Given the description of an element on the screen output the (x, y) to click on. 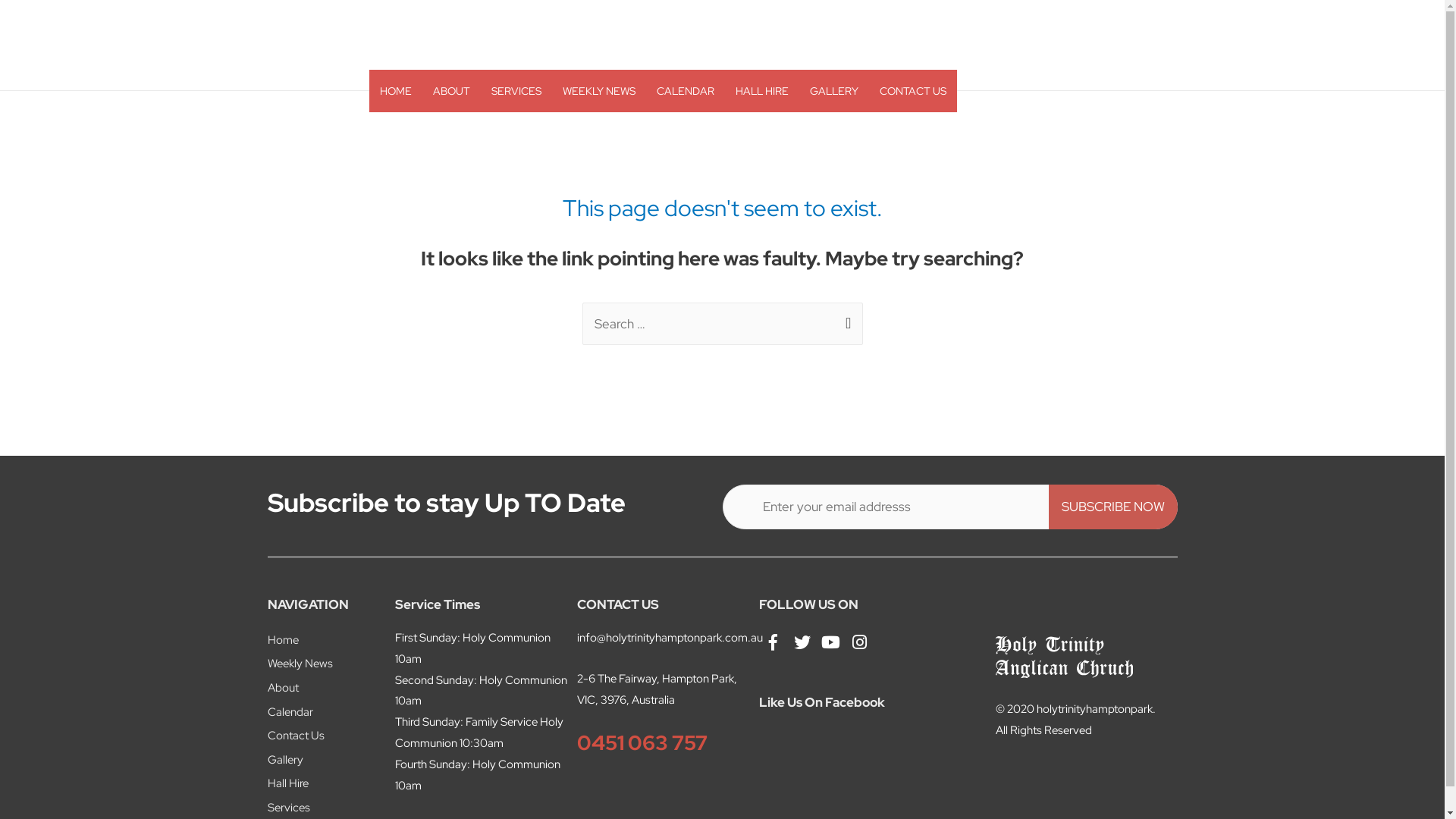
CALENDAR Element type: text (685, 90)
About Element type: text (282, 687)
Instagram Element type: hover (859, 642)
Hall Hire Element type: text (286, 782)
Twitter Element type: hover (801, 642)
Home Element type: text (282, 639)
Facebook Element type: hover (772, 641)
Calendar Element type: text (289, 711)
Twitter Element type: hover (801, 641)
Weekly News Element type: text (299, 663)
YouTube Element type: hover (830, 641)
CONTACT US Element type: text (913, 90)
WEEKLY NEWS Element type: text (599, 90)
ABOUT Element type: text (450, 90)
HOME Element type: text (394, 90)
Instagram Element type: hover (859, 641)
SUBSCRIBE NOW Element type: text (1112, 506)
SERVICES Element type: text (516, 90)
GALLERY Element type: text (834, 90)
Services Element type: text (287, 807)
Search Element type: text (845, 318)
Facebook Element type: hover (772, 642)
Gallery Element type: text (284, 759)
HALL HIRE Element type: text (761, 90)
YouTube Element type: hover (830, 642)
Contact Us Element type: text (294, 735)
